Given the description of an element on the screen output the (x, y) to click on. 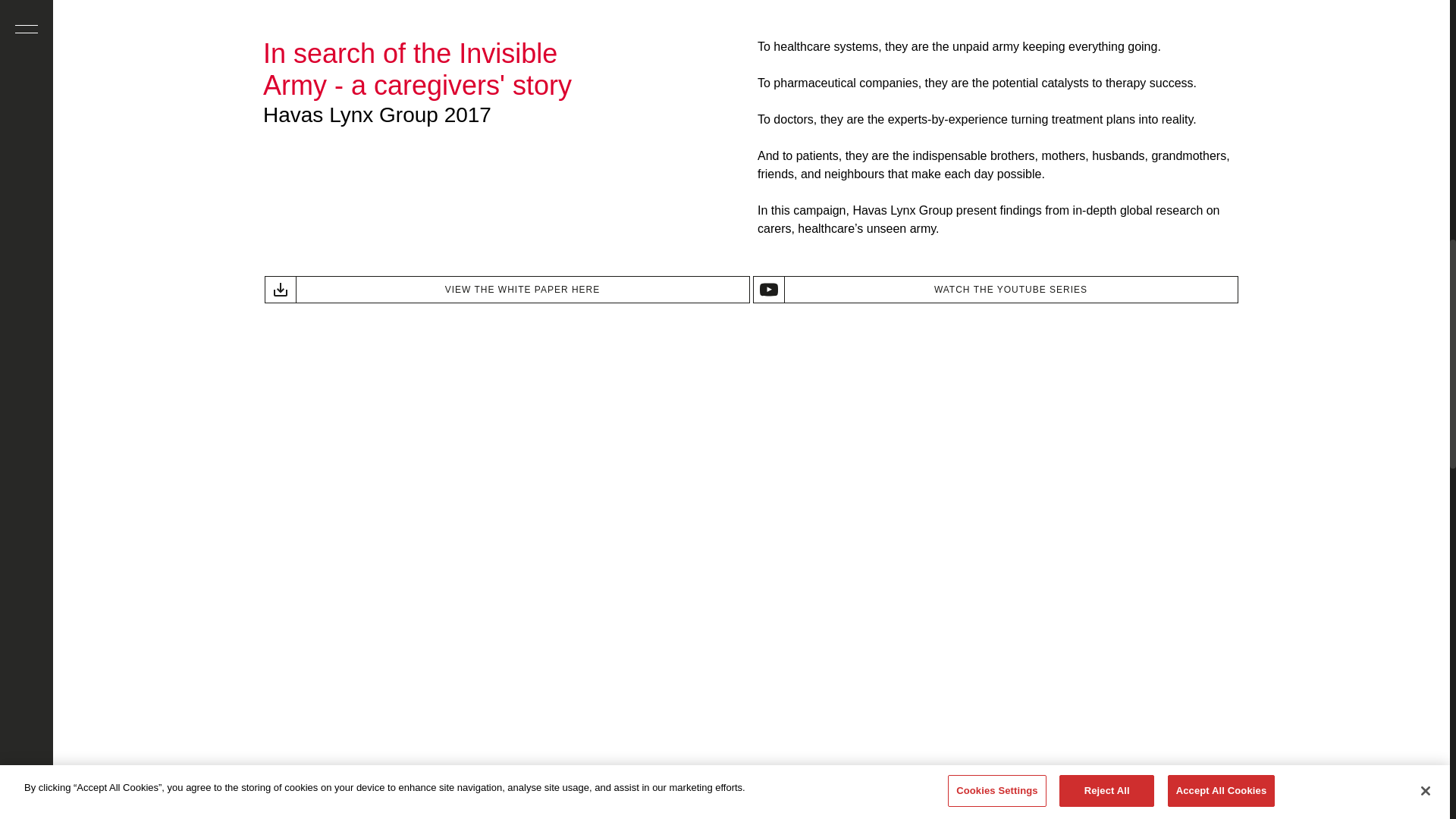
WATCH THE YOUTUBE SERIES (995, 289)
DOWNLOAD (506, 289)
VIEW THE WHITE PAPER HERE (506, 289)
WATCH (995, 289)
